Given the description of an element on the screen output the (x, y) to click on. 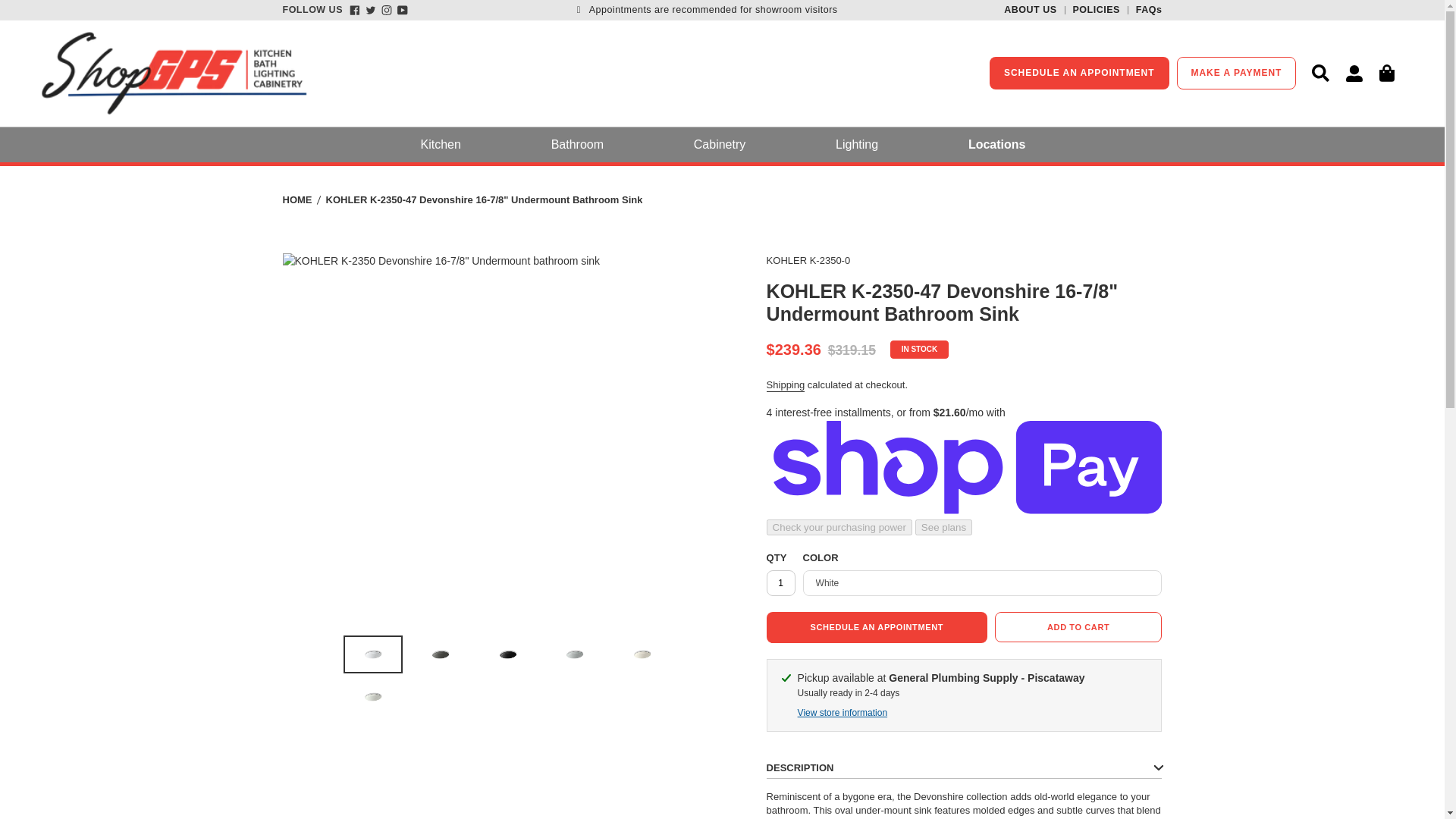
POLICIES (1091, 10)
1 (780, 583)
Search (1320, 72)
ABOUT US (1030, 10)
FAQs (1143, 10)
Log in (1354, 72)
SCHEDULE AN APPOINTMENT (1079, 72)
YouTube (402, 9)
Instagram (386, 9)
Cart (1387, 72)
Appointments are recommended for showroom visitors (707, 9)
MAKE A PAYMENT (1236, 72)
Facebook (354, 9)
Twitter (370, 9)
